Given the description of an element on the screen output the (x, y) to click on. 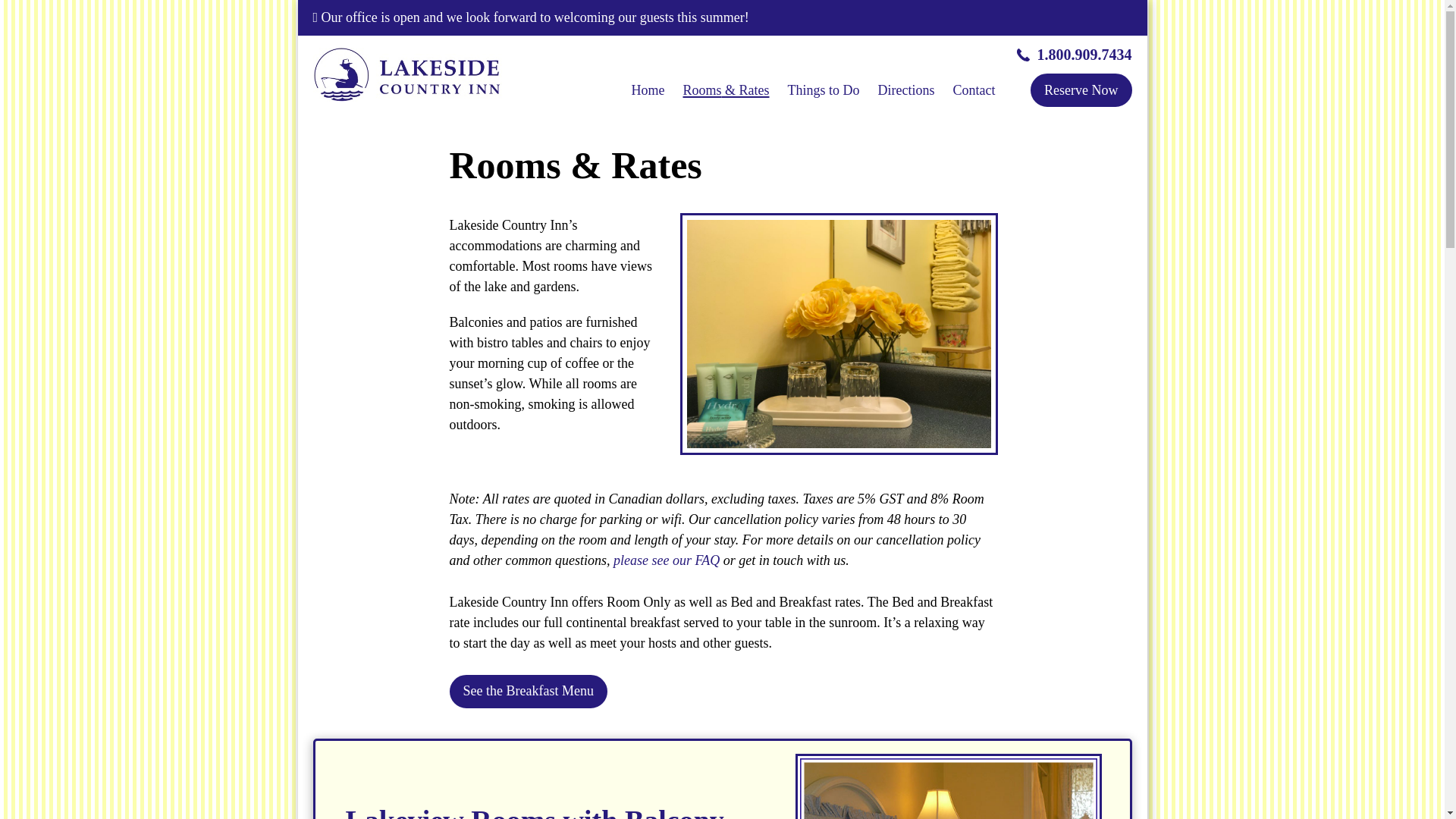
please see our FAQ Element type: text (668, 559)
Things to Do Element type: text (823, 89)
Contact Element type: text (973, 89)
Rooms & Rates Element type: text (725, 89)
Home Element type: text (647, 89)
Skip to content Element type: text (12, 21)
See the Breakfast Menu Element type: text (527, 691)
Reserve Now Element type: text (1080, 89)
1.800.909.7434 Element type: text (1073, 54)
Directions Element type: text (906, 89)
